Given the description of an element on the screen output the (x, y) to click on. 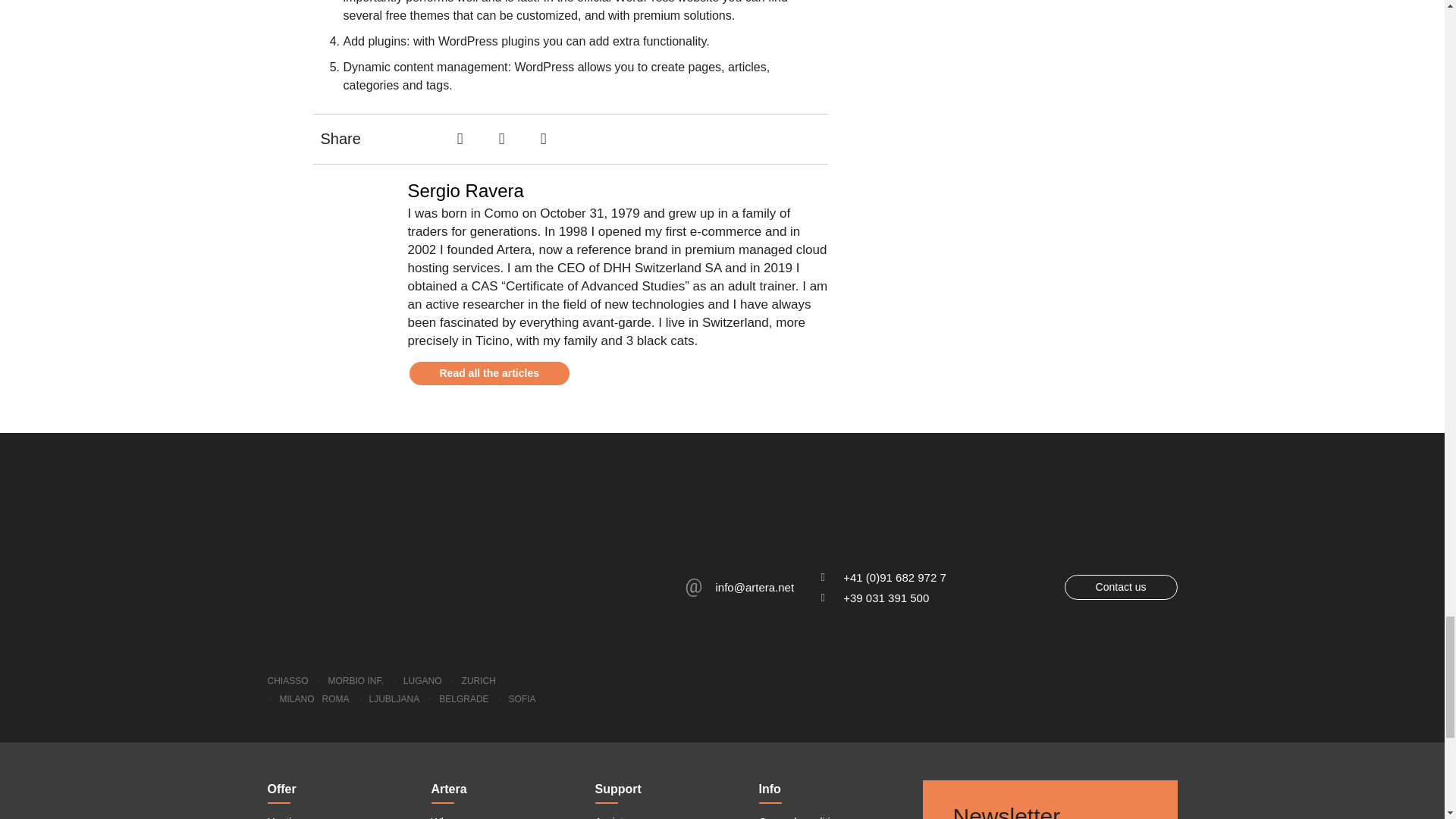
Sergio Ravera (617, 189)
Read all the articles (489, 373)
